Given the description of an element on the screen output the (x, y) to click on. 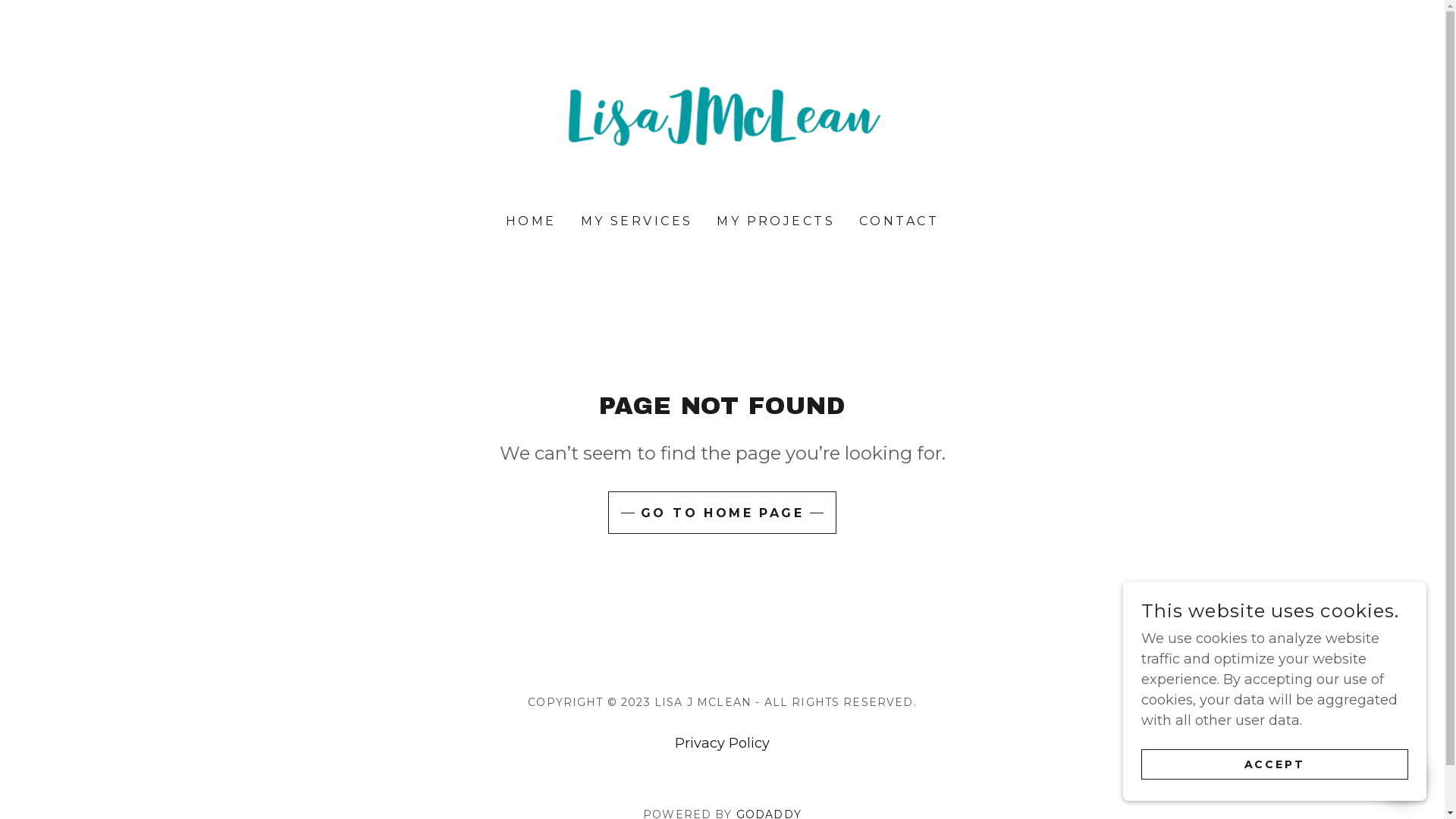
Privacy Policy Element type: text (721, 742)
MY PROJECTS Element type: text (775, 221)
MY SERVICES Element type: text (636, 221)
Lisa J McLean Element type: hover (722, 117)
HOME Element type: text (531, 221)
CONTACT Element type: text (898, 221)
GO TO HOME PAGE Element type: text (722, 512)
ACCEPT Element type: text (1274, 764)
